Given the description of an element on the screen output the (x, y) to click on. 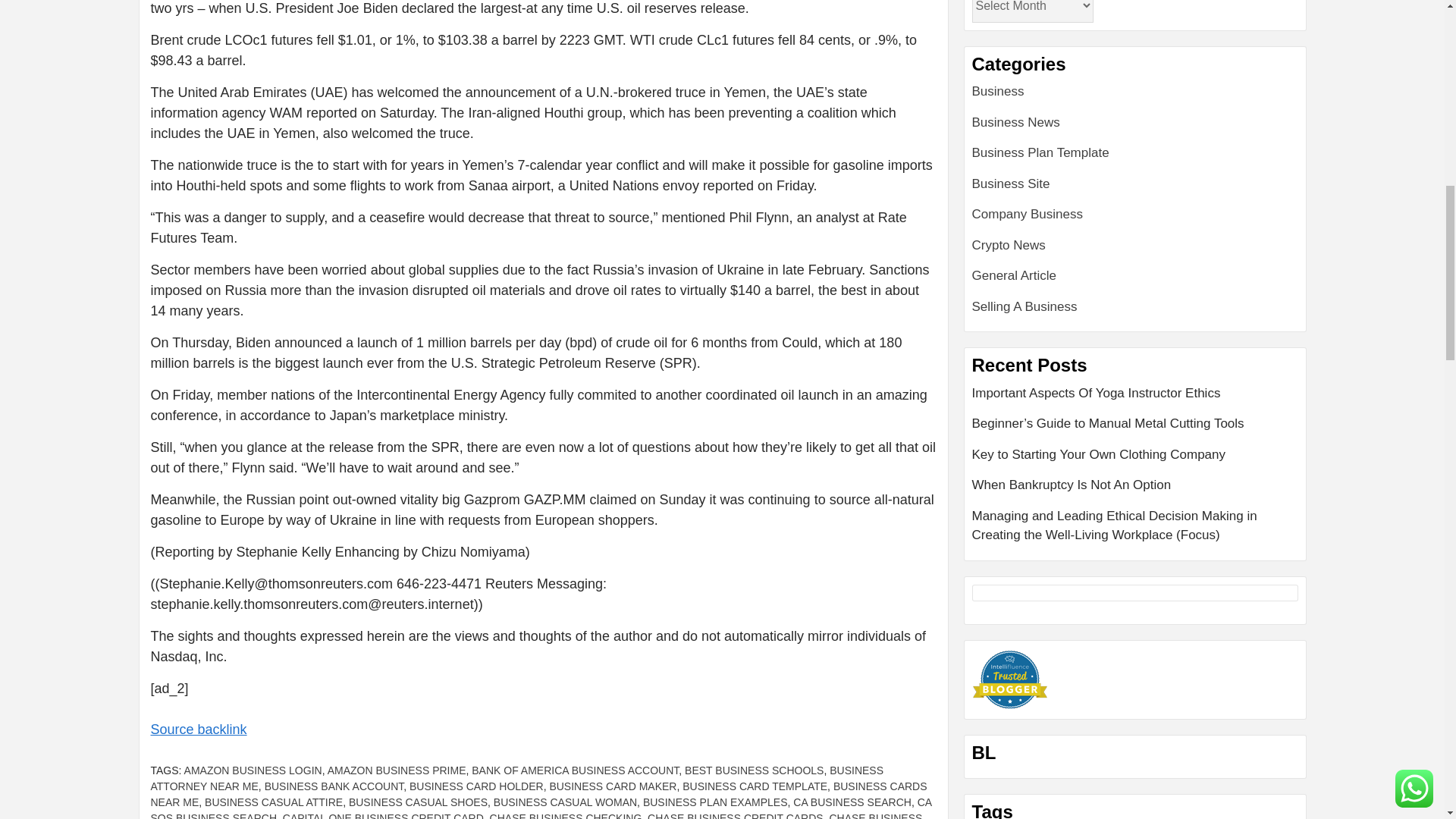
CHASE BUSINESS CHECKING (565, 815)
BUSINESS CASUAL ATTIRE (273, 802)
BEST BUSINESS SCHOOLS (754, 770)
CHASE BUSINESS CREDIT CARDS (735, 815)
Source backlink (197, 729)
BANK OF AMERICA BUSINESS ACCOUNT (574, 770)
BUSINESS CASUAL SHOES (418, 802)
BUSINESS CARD HOLDER (476, 786)
AMAZON BUSINESS LOGIN (252, 770)
CA BUSINESS SEARCH (852, 802)
